Given the description of an element on the screen output the (x, y) to click on. 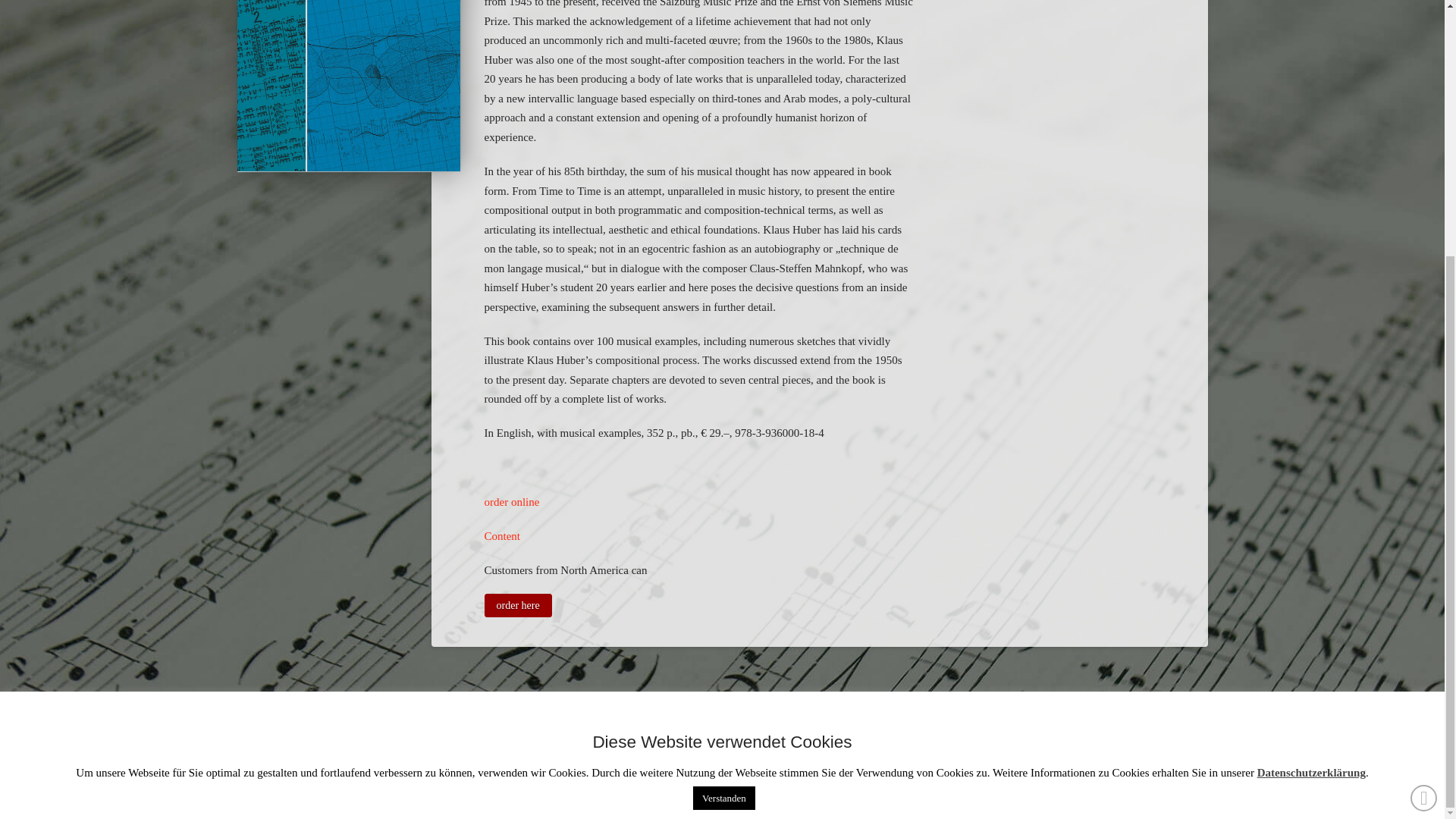
Content (501, 535)
order online (510, 501)
Impressum (596, 753)
order here (517, 605)
Back to Top (1423, 434)
Datenschutz (690, 753)
Newsletter abbestellen (816, 753)
